Given the description of an element on the screen output the (x, y) to click on. 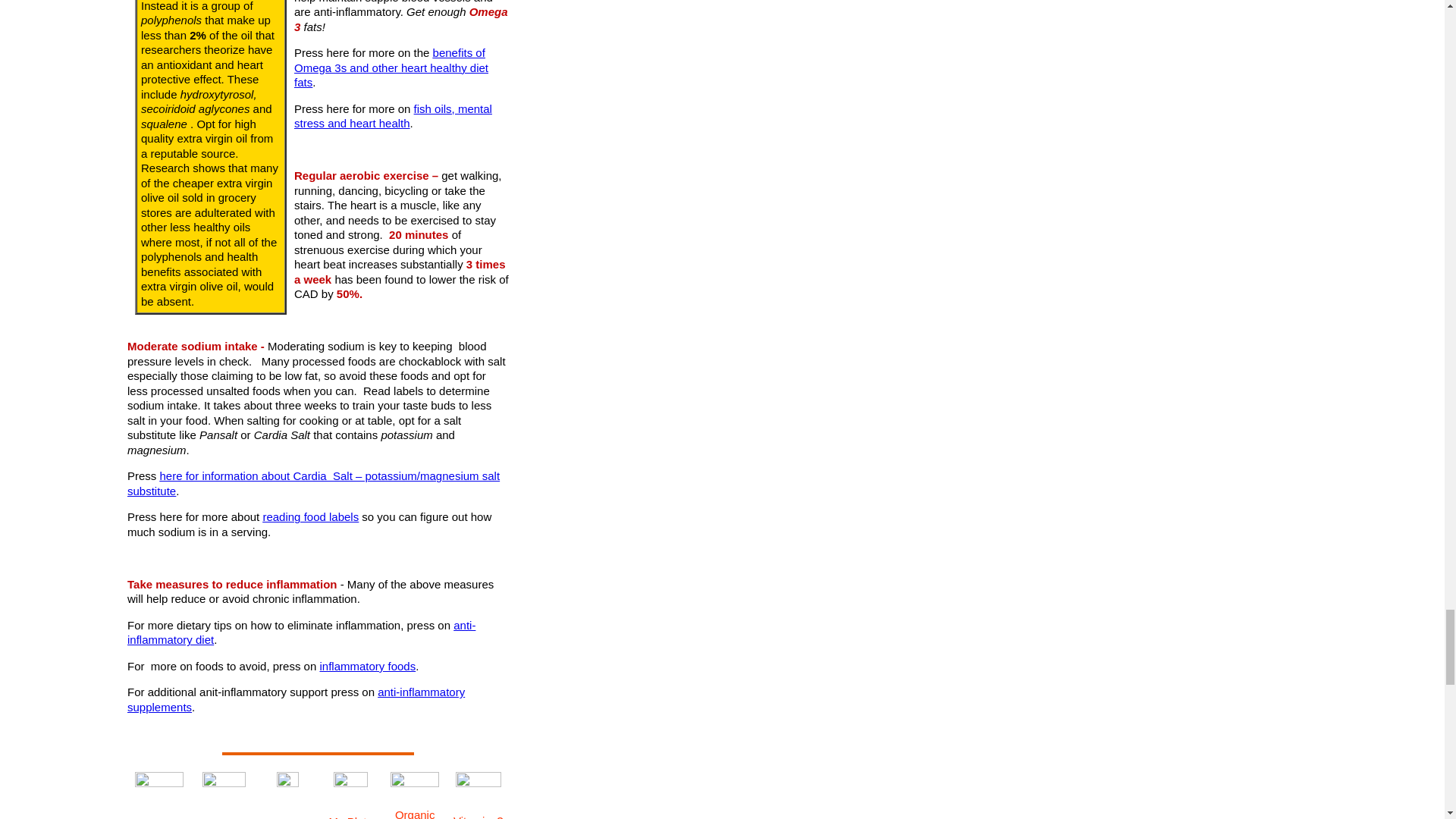
fish oils, mental stress and heart health (393, 116)
Go to A Healthy Balanced Diet - Six Tips to Achieve One (159, 782)
inflammatory foods (366, 666)
benefits of Omega 3s and other heart healthy diet fats (390, 66)
reading food labels (310, 516)
anti-inflammatory supplements (296, 699)
anti-inflammatory diet (302, 633)
